Given the description of an element on the screen output the (x, y) to click on. 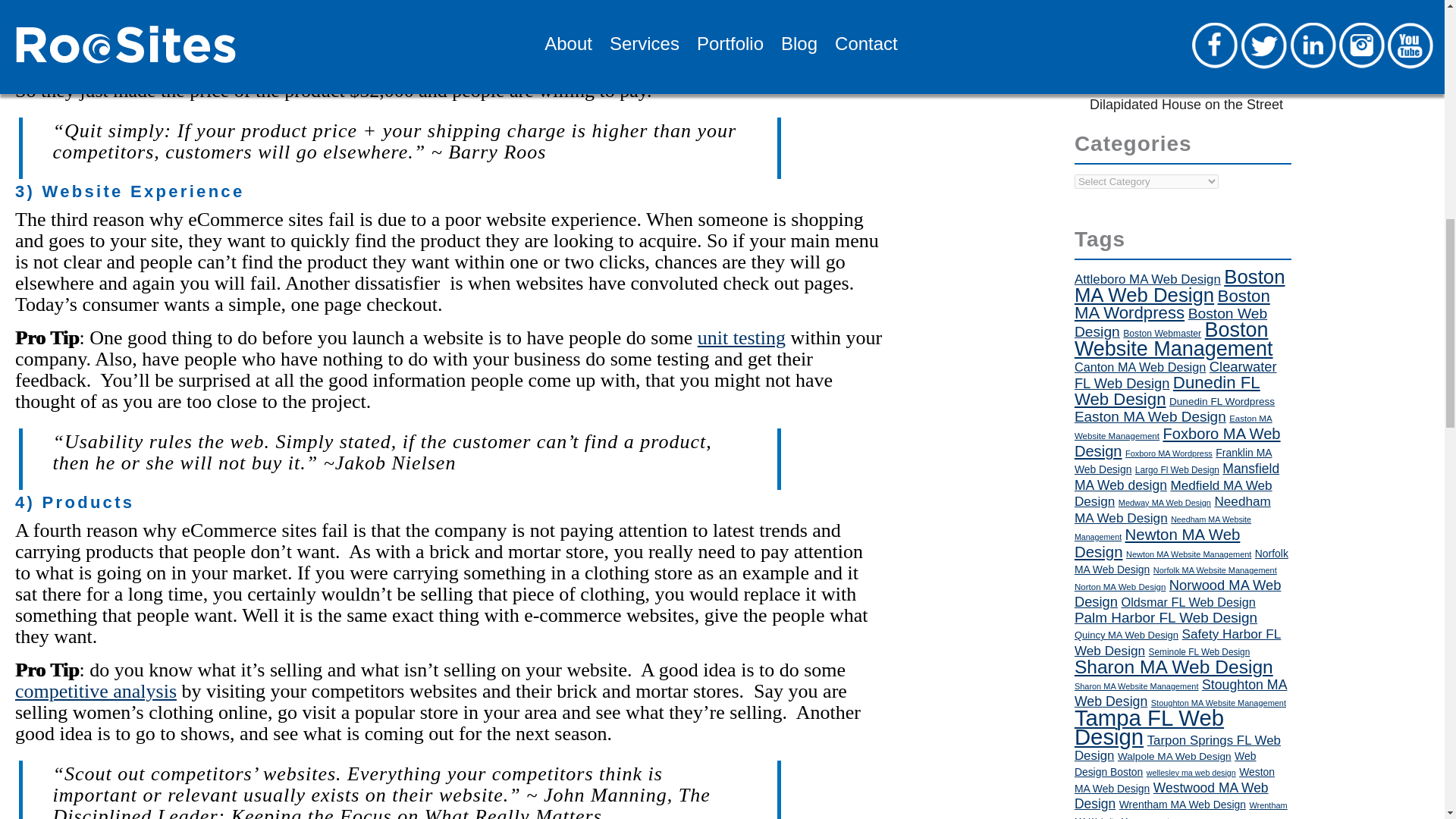
unit testing (741, 337)
competitive analysis (95, 690)
